Given the description of an element on the screen output the (x, y) to click on. 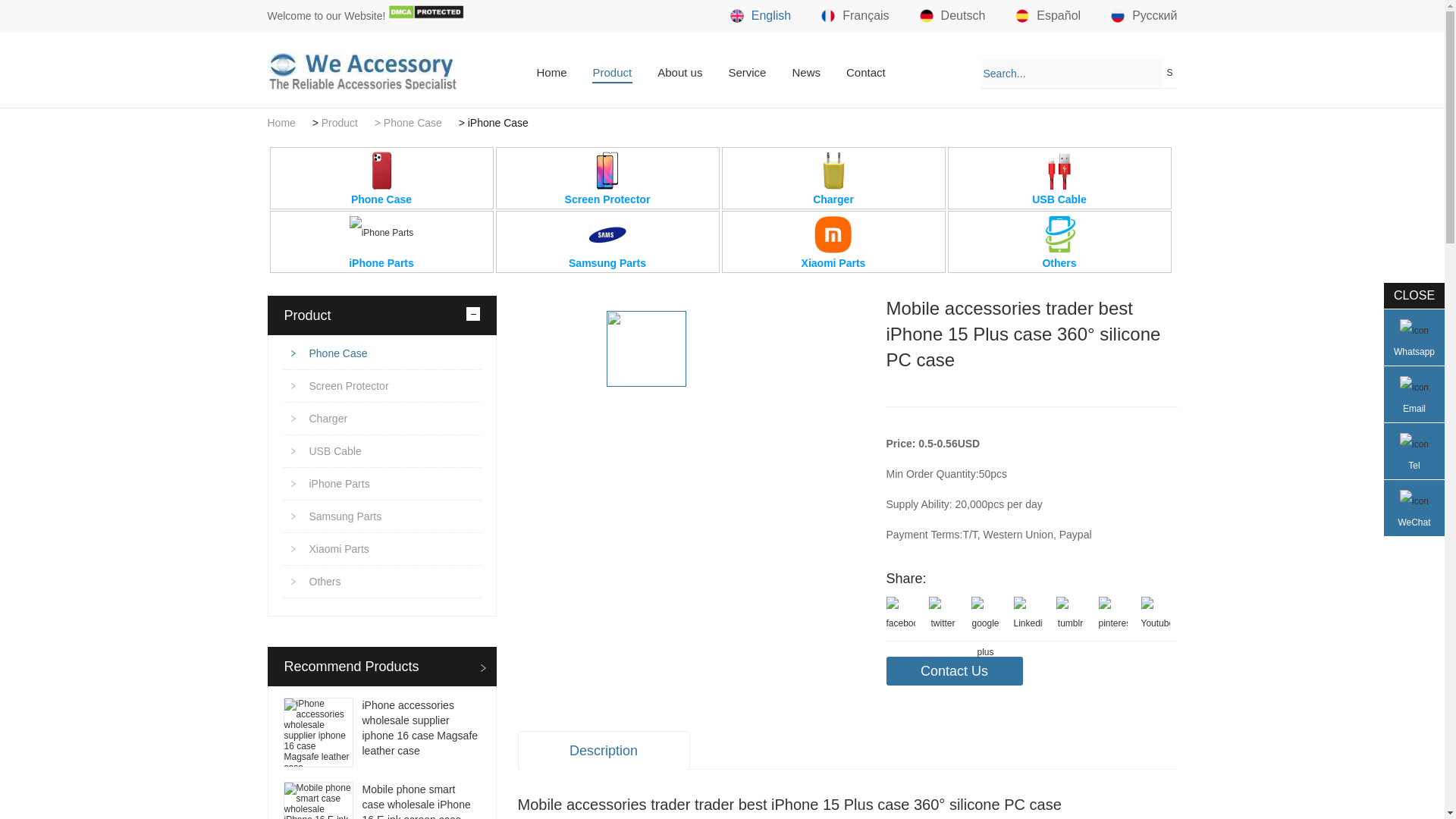
S (1168, 72)
Screen Protector (606, 178)
Product (339, 122)
News (805, 73)
About us (679, 73)
Home (551, 73)
Service (746, 73)
DMCA.com Protection Status (426, 15)
Home (280, 122)
Contact (865, 73)
Product (612, 73)
English (760, 15)
Deutsch (952, 15)
Phone Case (380, 178)
